Given the description of an element on the screen output the (x, y) to click on. 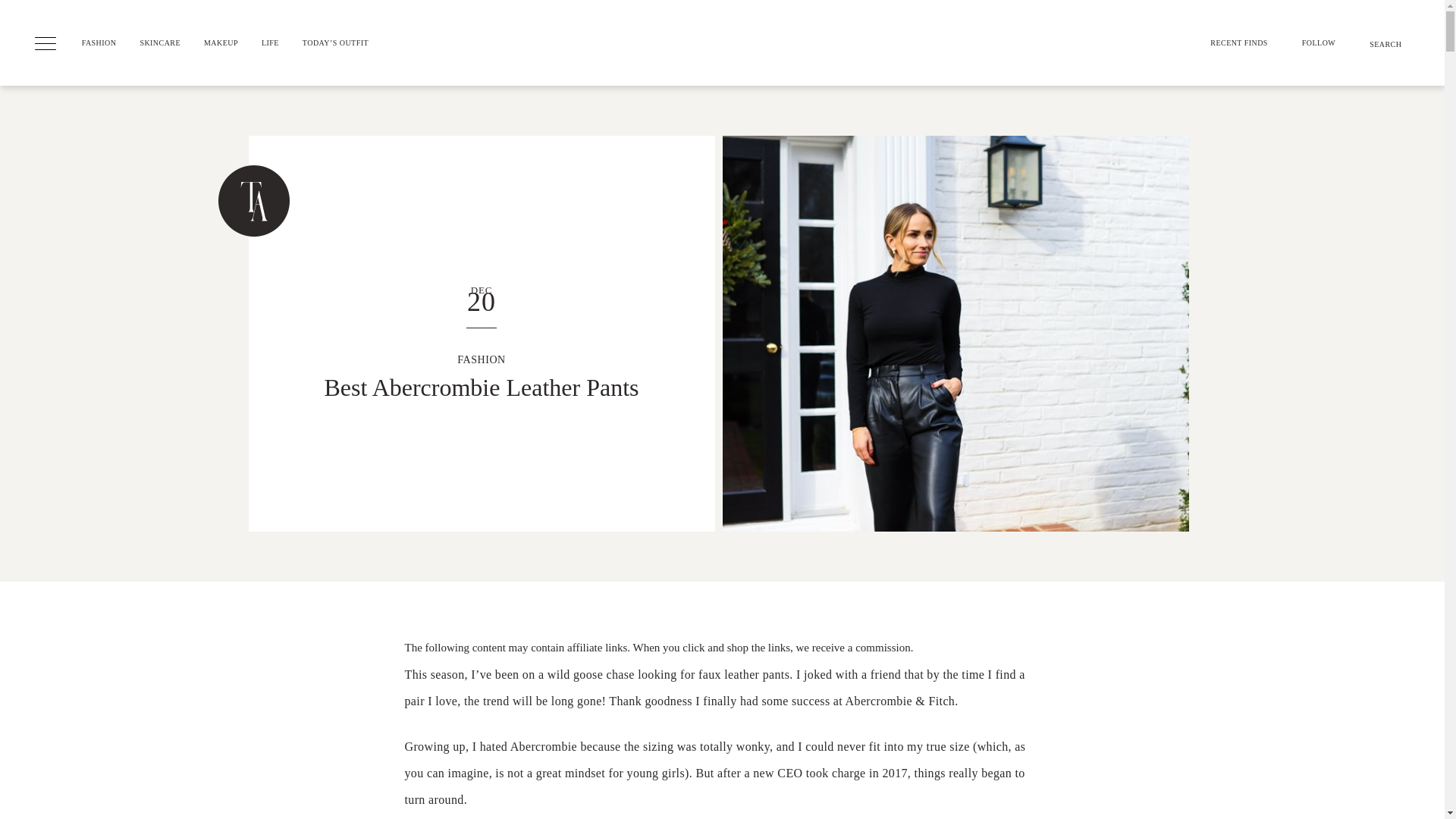
SKINCARE (1291, 60)
FASHION (171, 60)
